Given the description of an element on the screen output the (x, y) to click on. 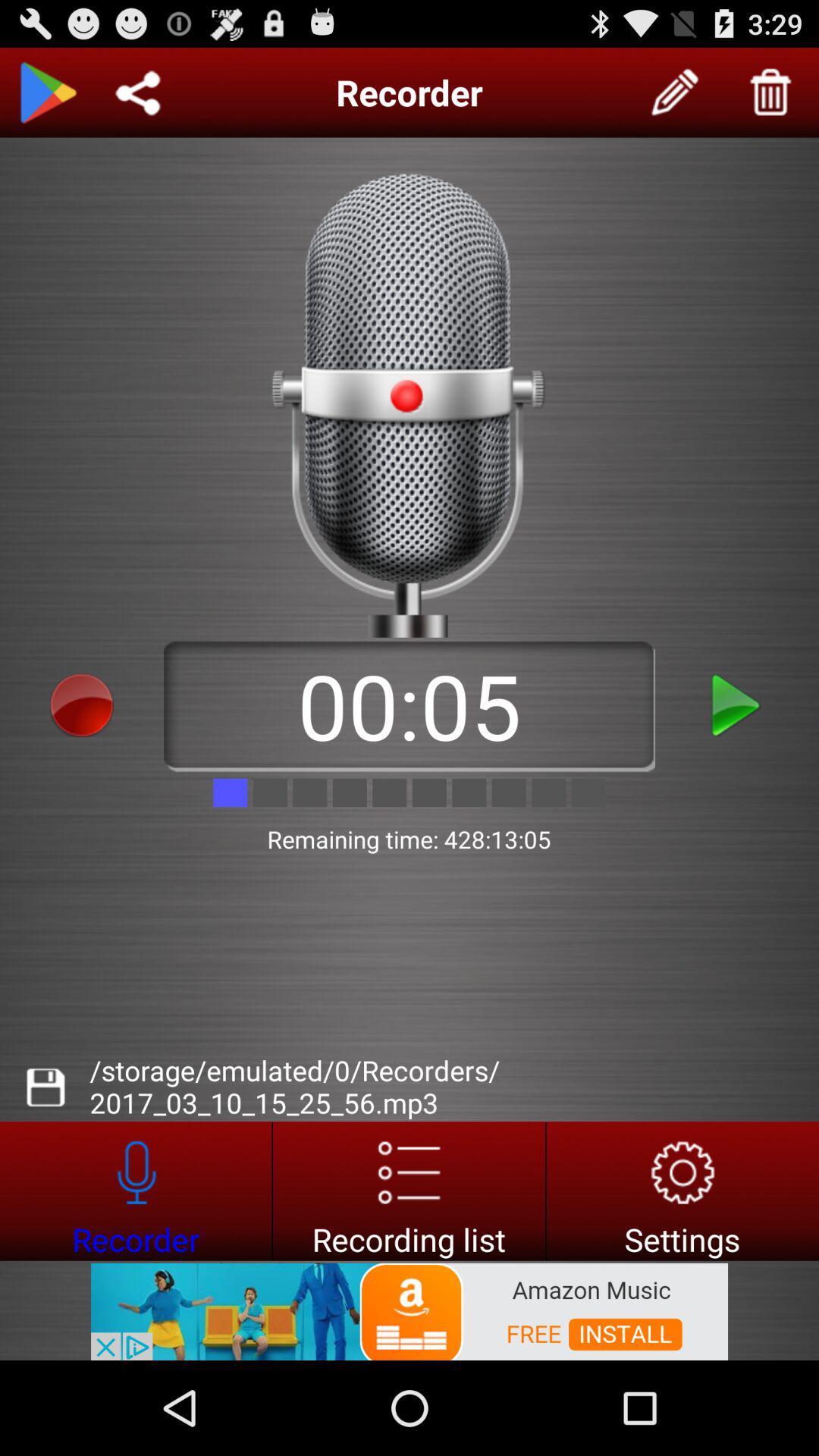
play recording (737, 705)
